Given the description of an element on the screen output the (x, y) to click on. 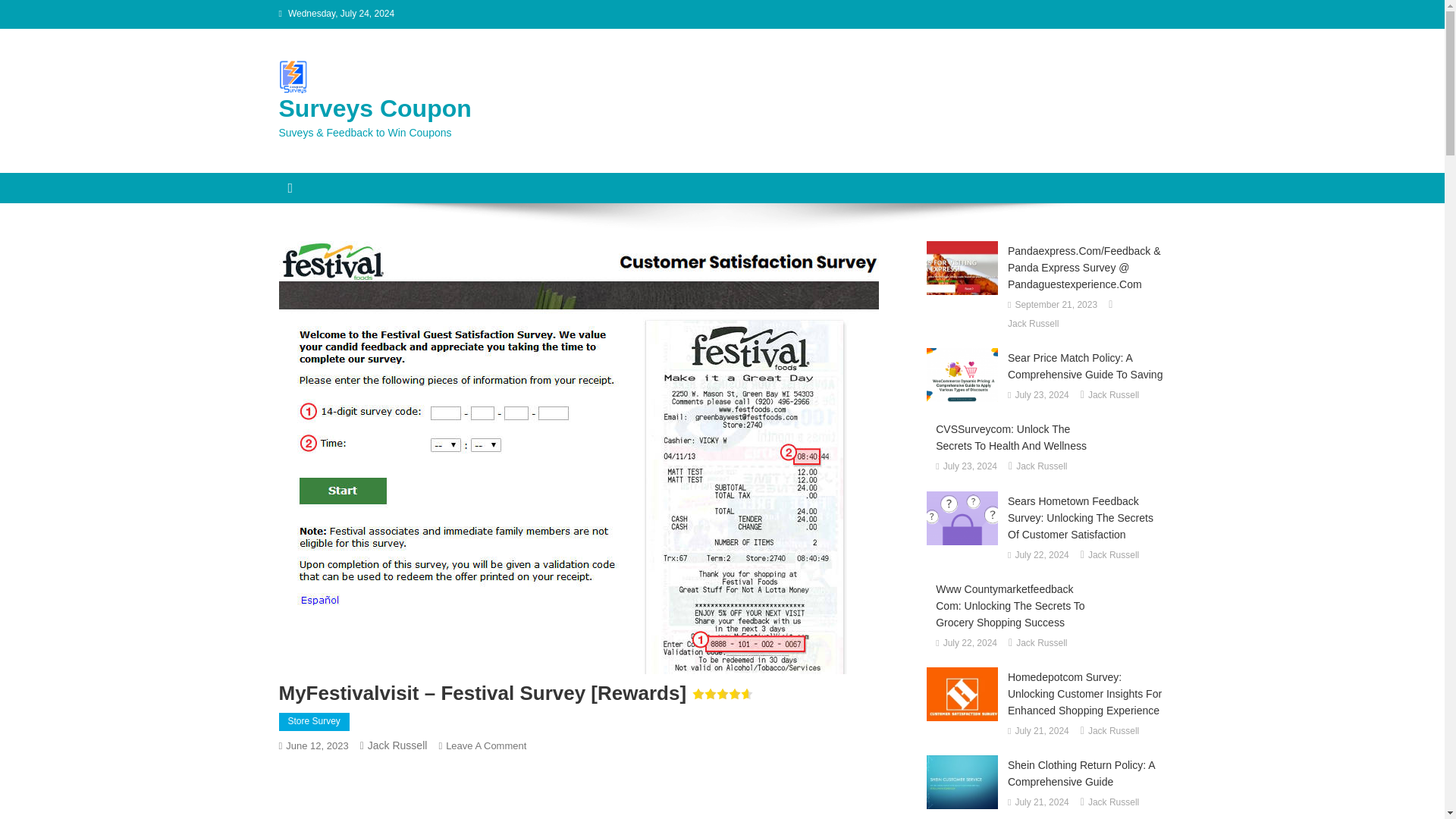
Store Survey (314, 721)
Surveys Coupon (375, 108)
Jack Russell (398, 745)
June 12, 2023 (316, 745)
Advertisement (589, 792)
